Given the description of an element on the screen output the (x, y) to click on. 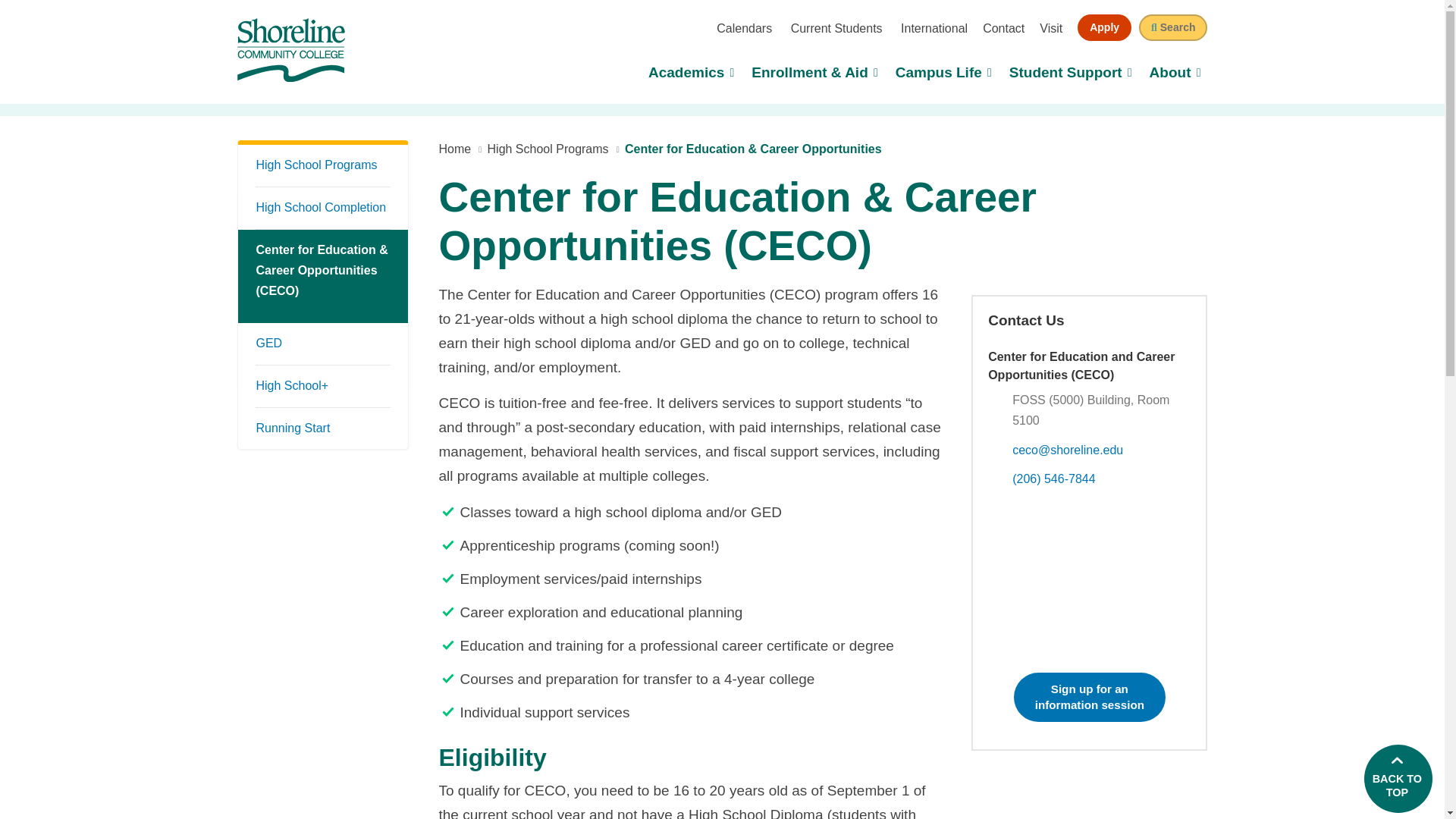
Map of location (833, 29)
Shoreline Community College (932, 29)
Academics (1089, 579)
Apply (1172, 27)
Calendars (289, 49)
Shoreline Community College (692, 74)
Contact (1397, 786)
Visit (1104, 27)
